Given the description of an element on the screen output the (x, y) to click on. 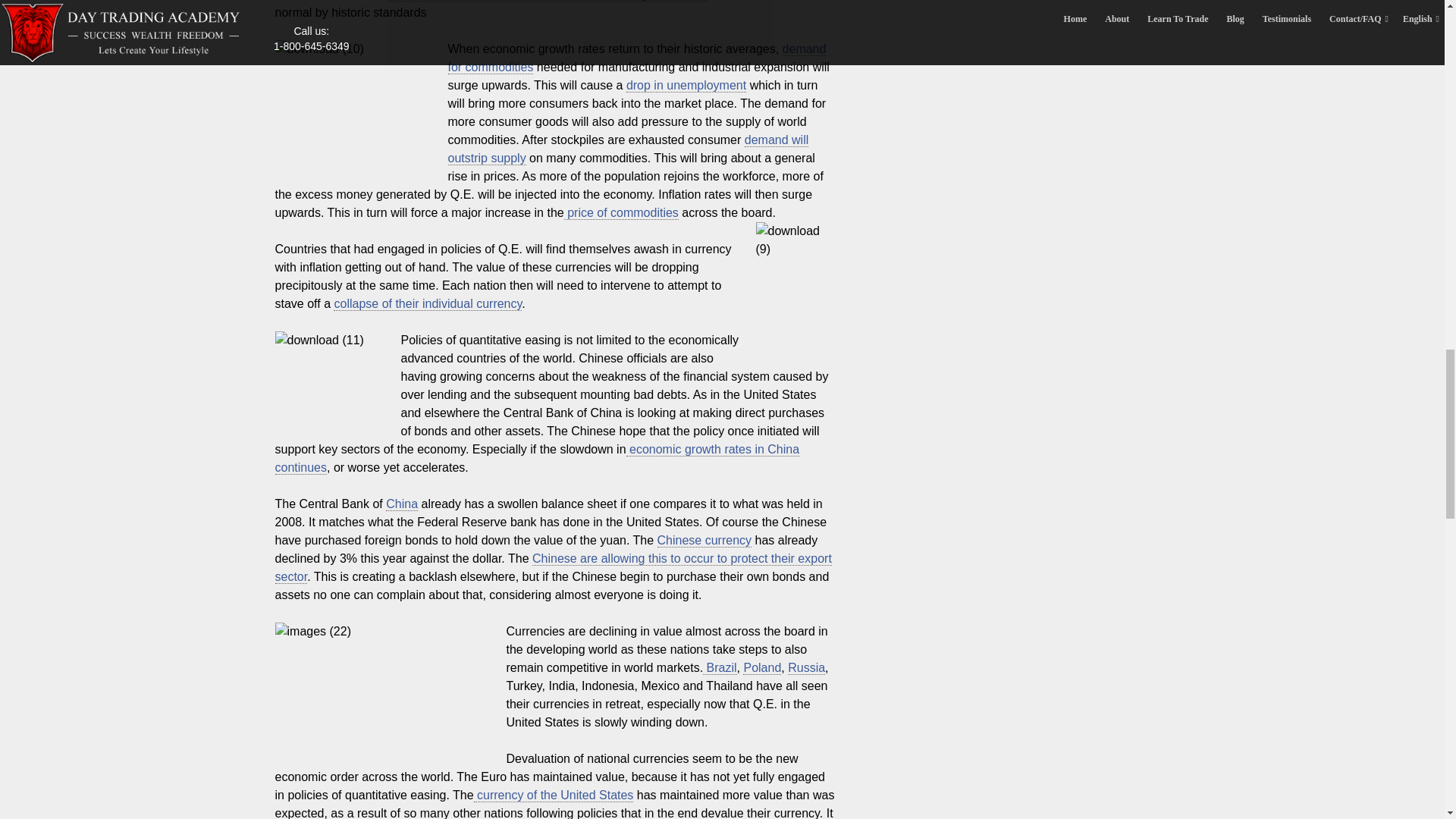
demand for commodities (635, 58)
drop in unemployment (685, 85)
